Given the description of an element on the screen output the (x, y) to click on. 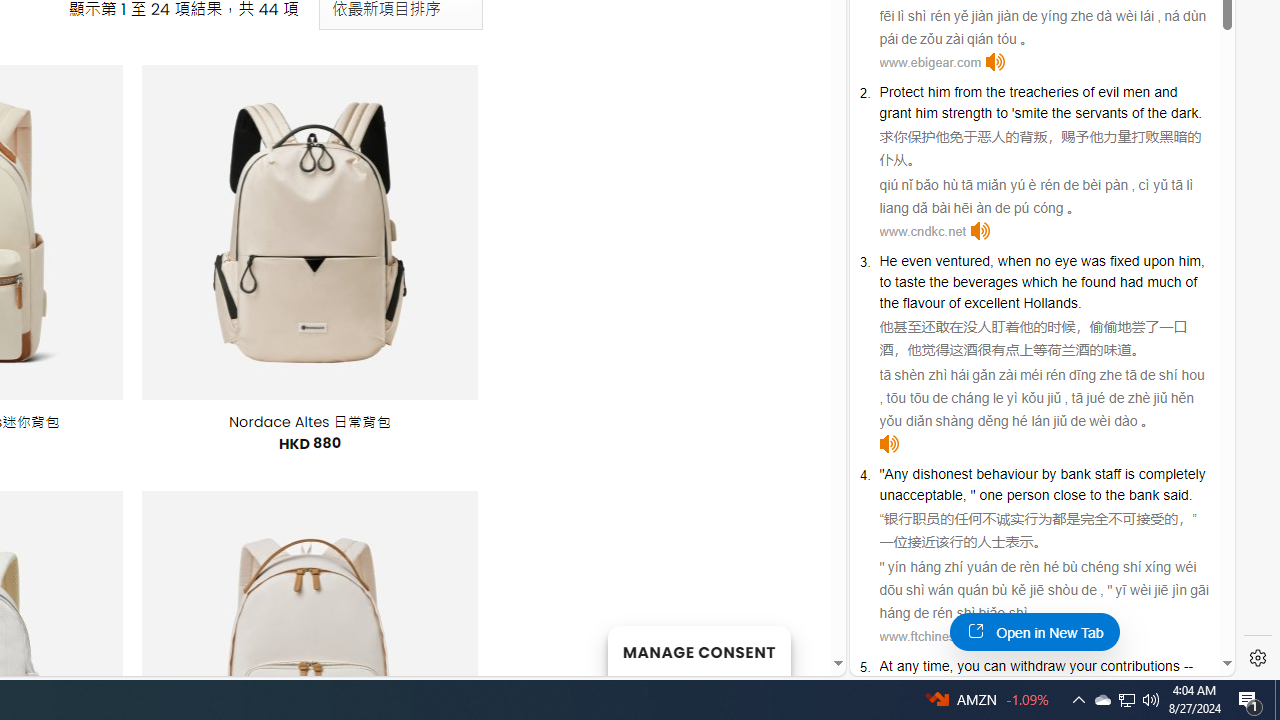
smite (1030, 112)
had (1132, 282)
is (1129, 473)
you (968, 665)
